Given the description of an element on the screen output the (x, y) to click on. 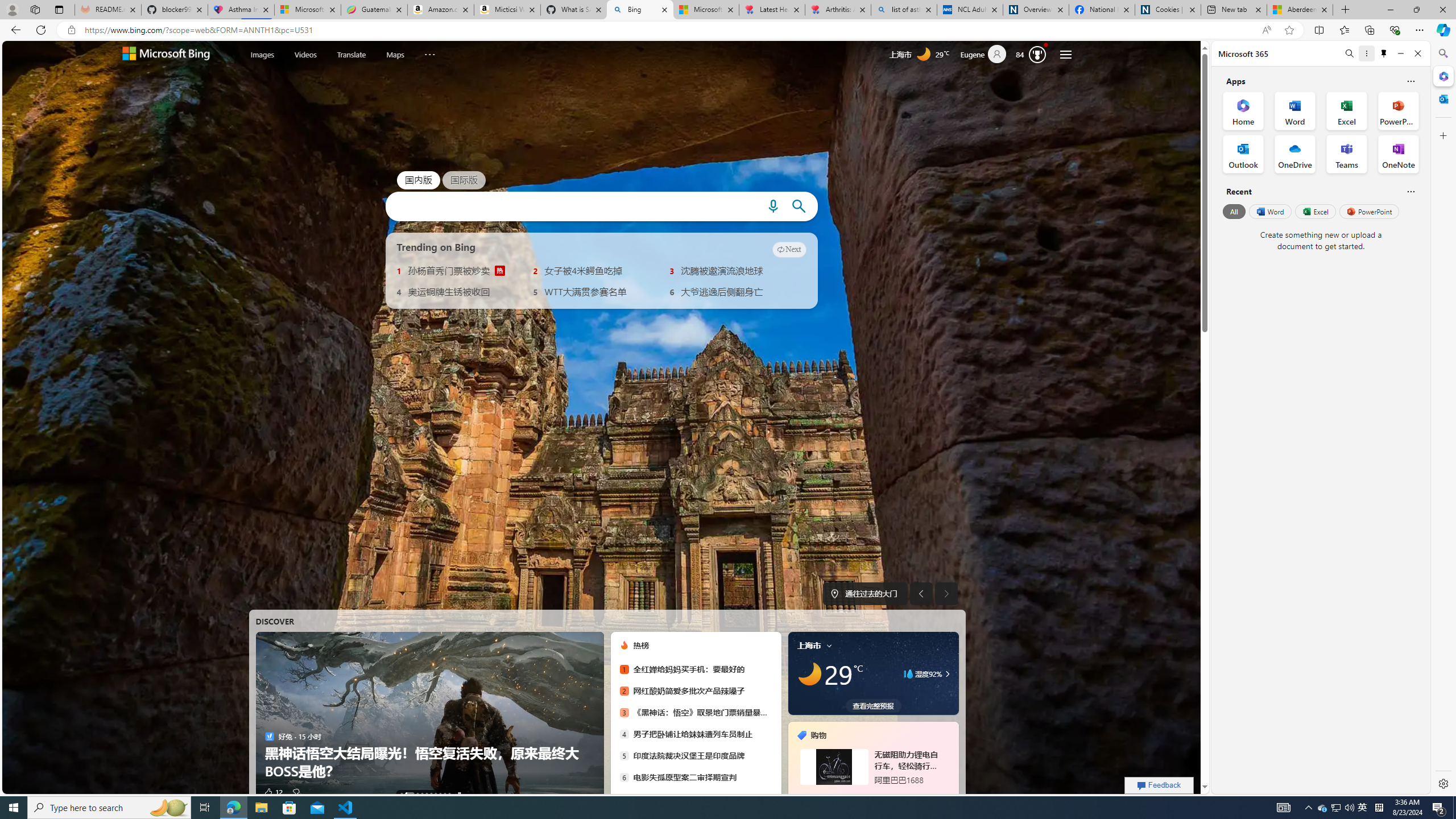
AutomationID: tab-9 (448, 793)
Class: scopes  (352, 53)
AutomationID: tab-3 (421, 793)
Outlook Office App (1243, 154)
Home Office App (1243, 110)
AutomationID: tab-2 (416, 793)
